Given the description of an element on the screen output the (x, y) to click on. 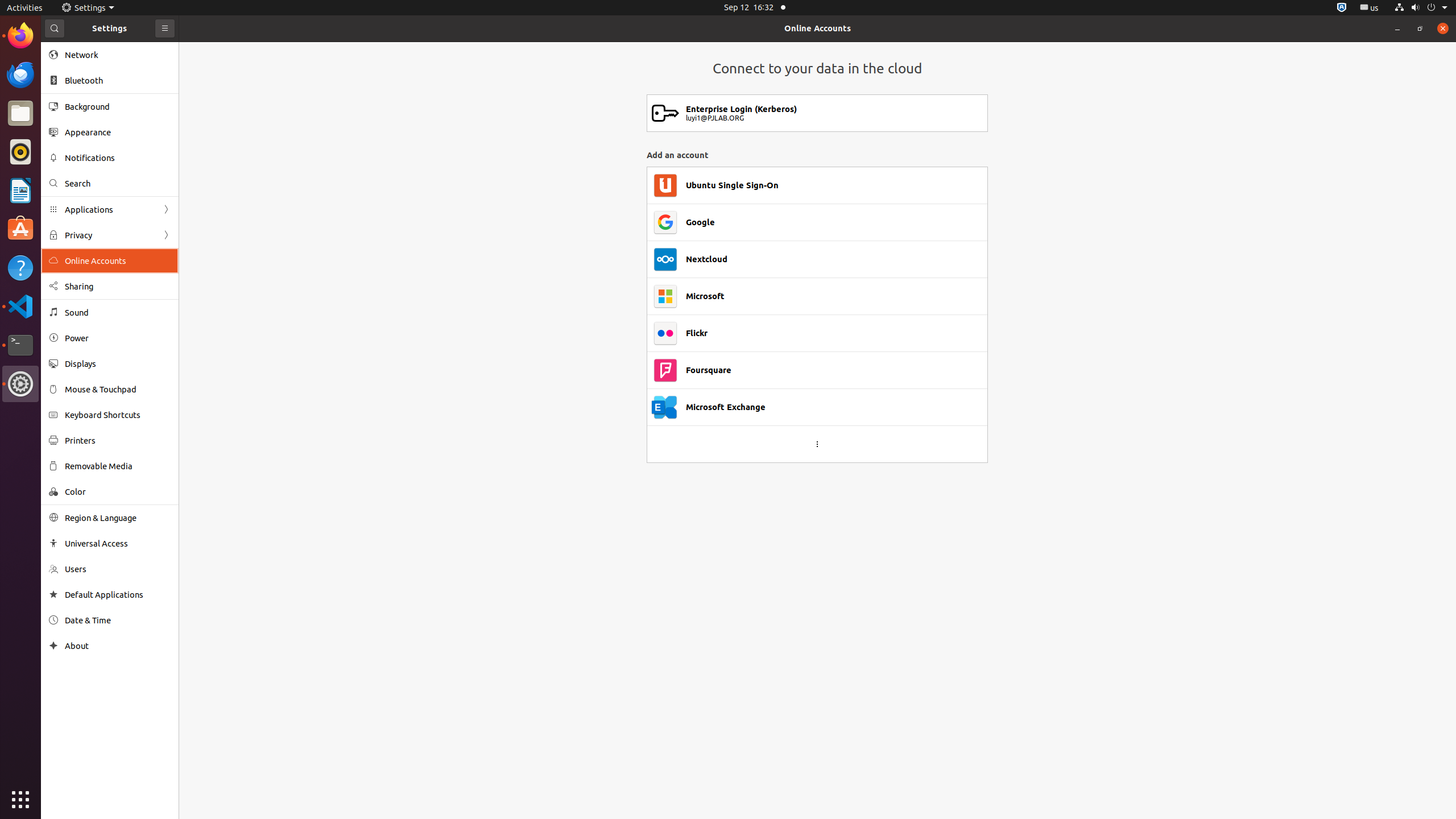
Close Element type: push-button (1442, 27)
Users Element type: label (117, 568)
Microsoft Exchange Element type: label (725, 407)
Sound Element type: label (117, 312)
Applications Element type: label (109, 209)
